Given the description of an element on the screen output the (x, y) to click on. 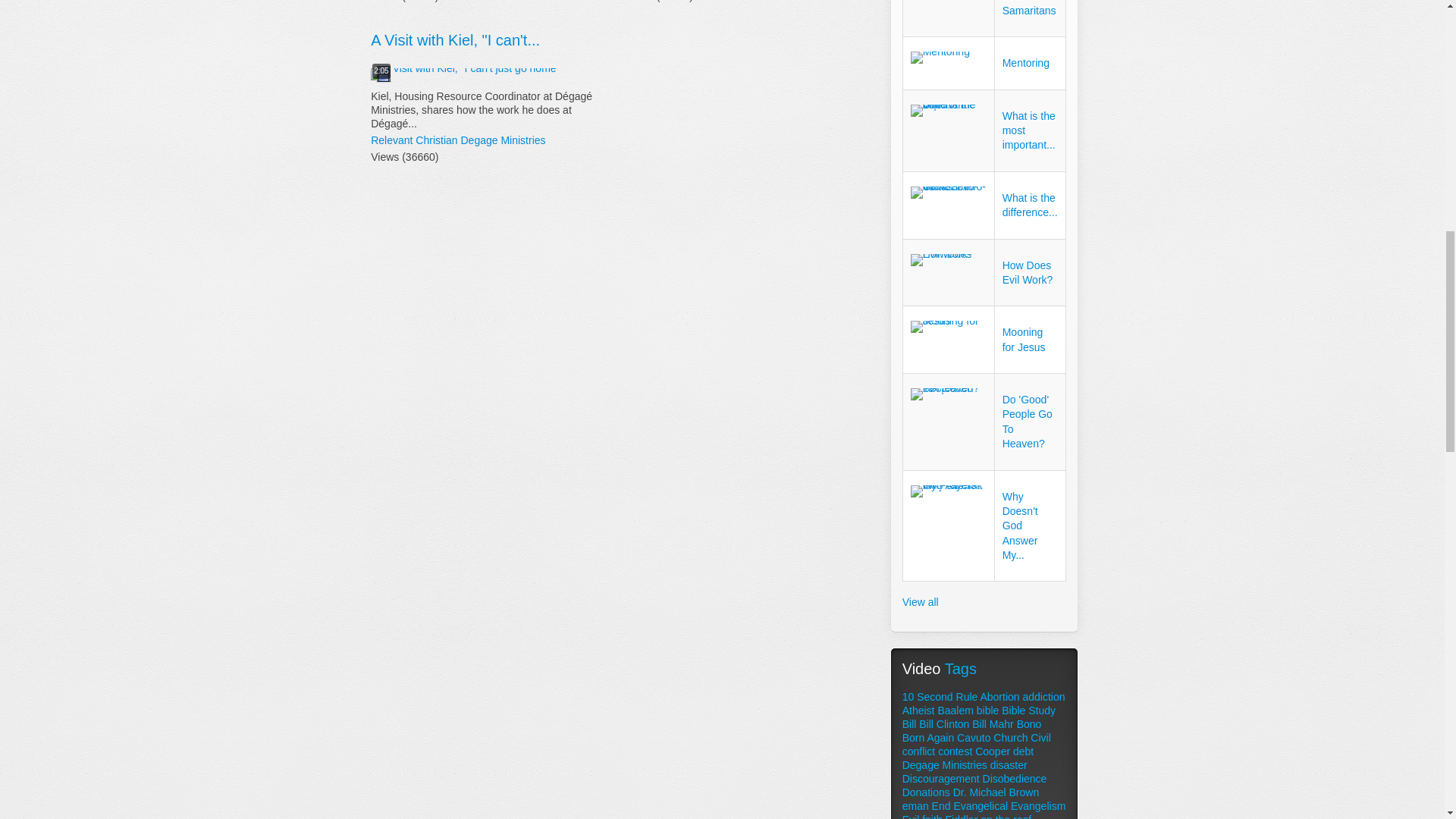
A Visit with Kiel, "I can't just go home" :: (465, 73)
